Given the description of an element on the screen output the (x, y) to click on. 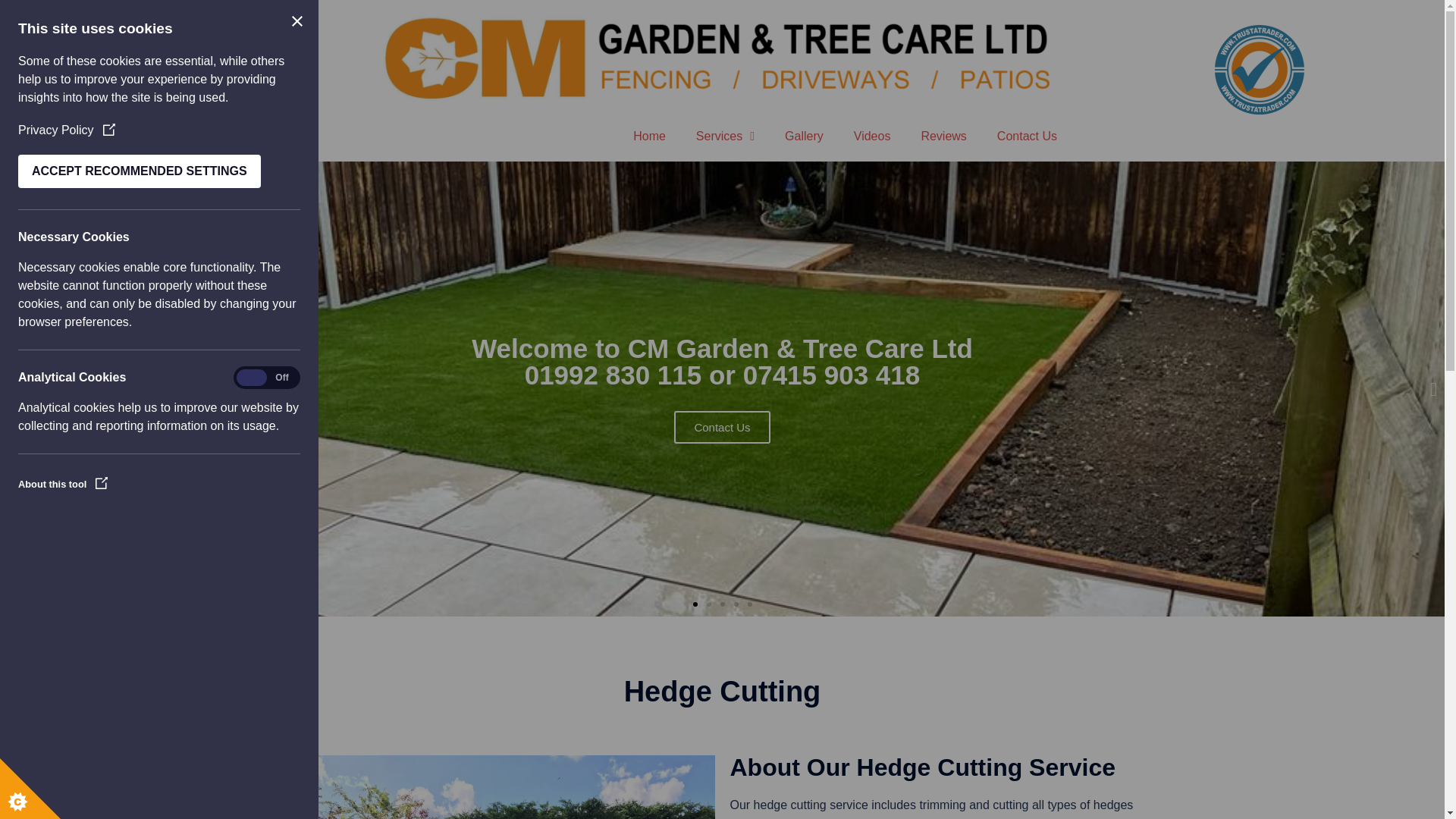
Contact Us (722, 427)
Reviews (943, 135)
trustatrader (1259, 69)
Gallery (804, 135)
checkatrade-logo (178, 64)
Home (649, 135)
Contact Us (1026, 135)
Videos (871, 135)
Services (725, 135)
